Given the description of an element on the screen output the (x, y) to click on. 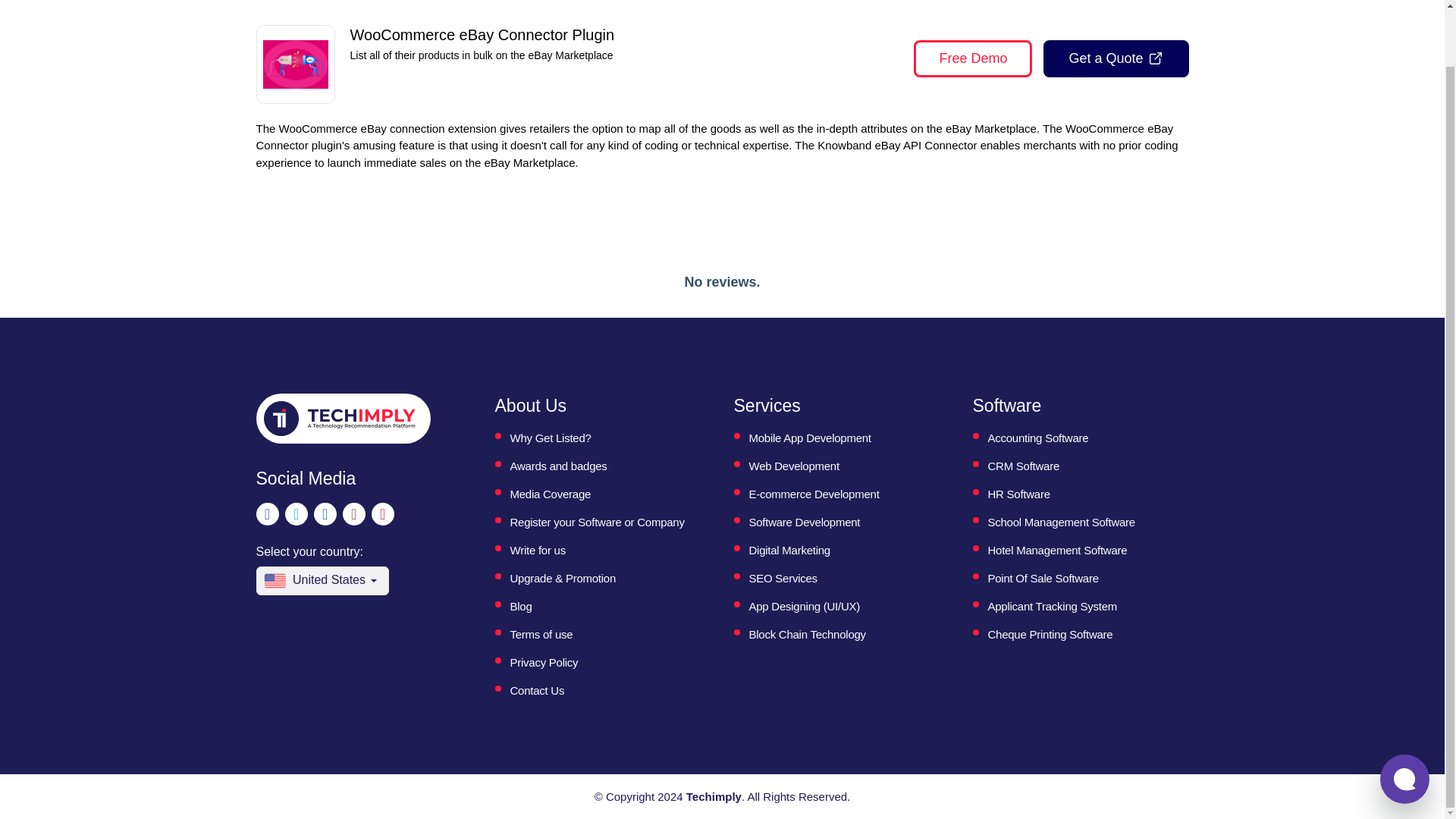
Follow on Pinterest (382, 513)
Join us on Linked in (325, 513)
Techimply (338, 418)
Like on Facebook (267, 513)
WooCommerce eBay Connector Plugin (294, 64)
Techimply (713, 796)
Follow on Instagram (353, 513)
Follow on Twitter (296, 513)
